Given the description of an element on the screen output the (x, y) to click on. 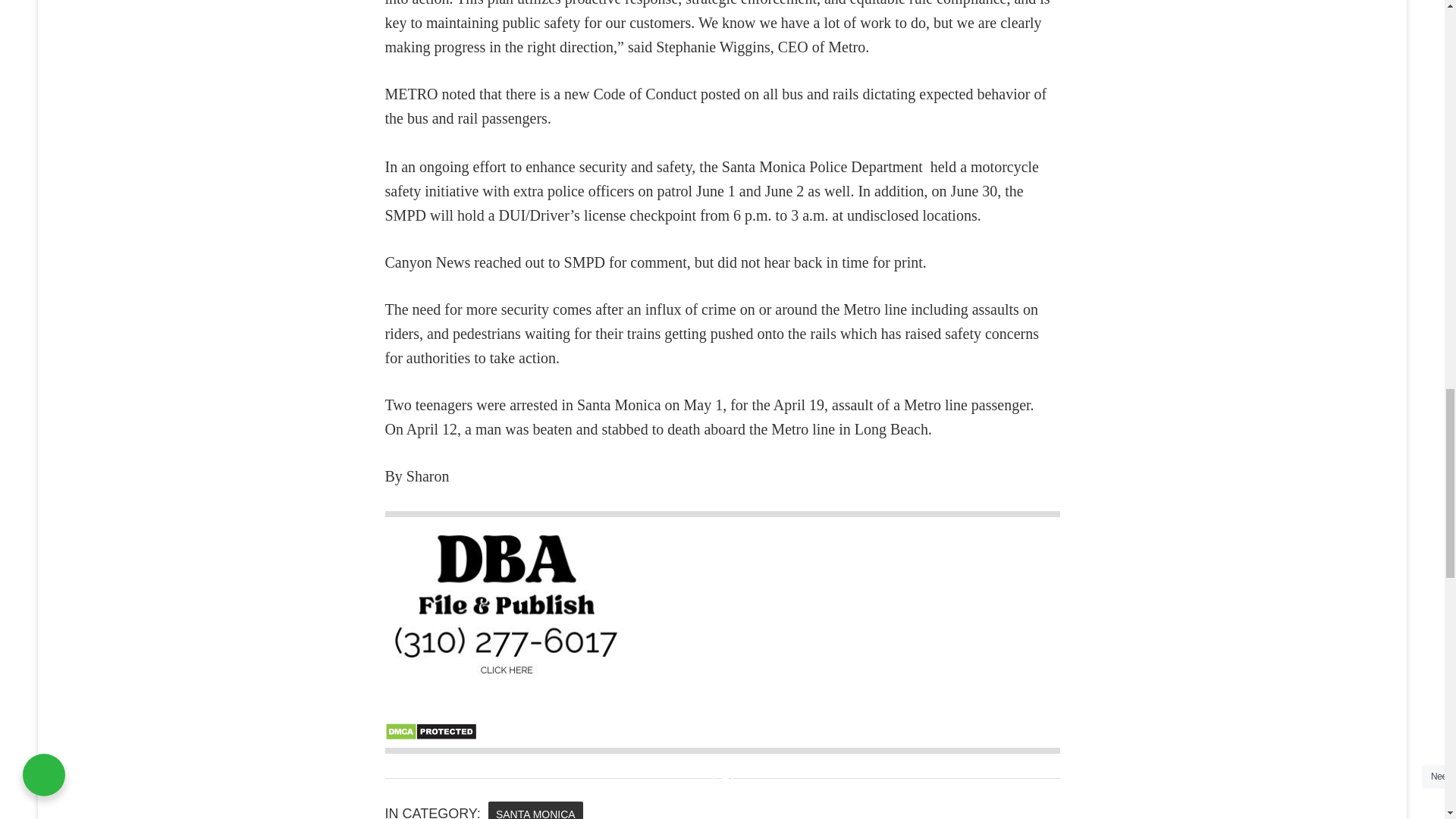
SANTA MONICA (535, 810)
DMCA.com Protection Status (431, 735)
